Given the description of an element on the screen output the (x, y) to click on. 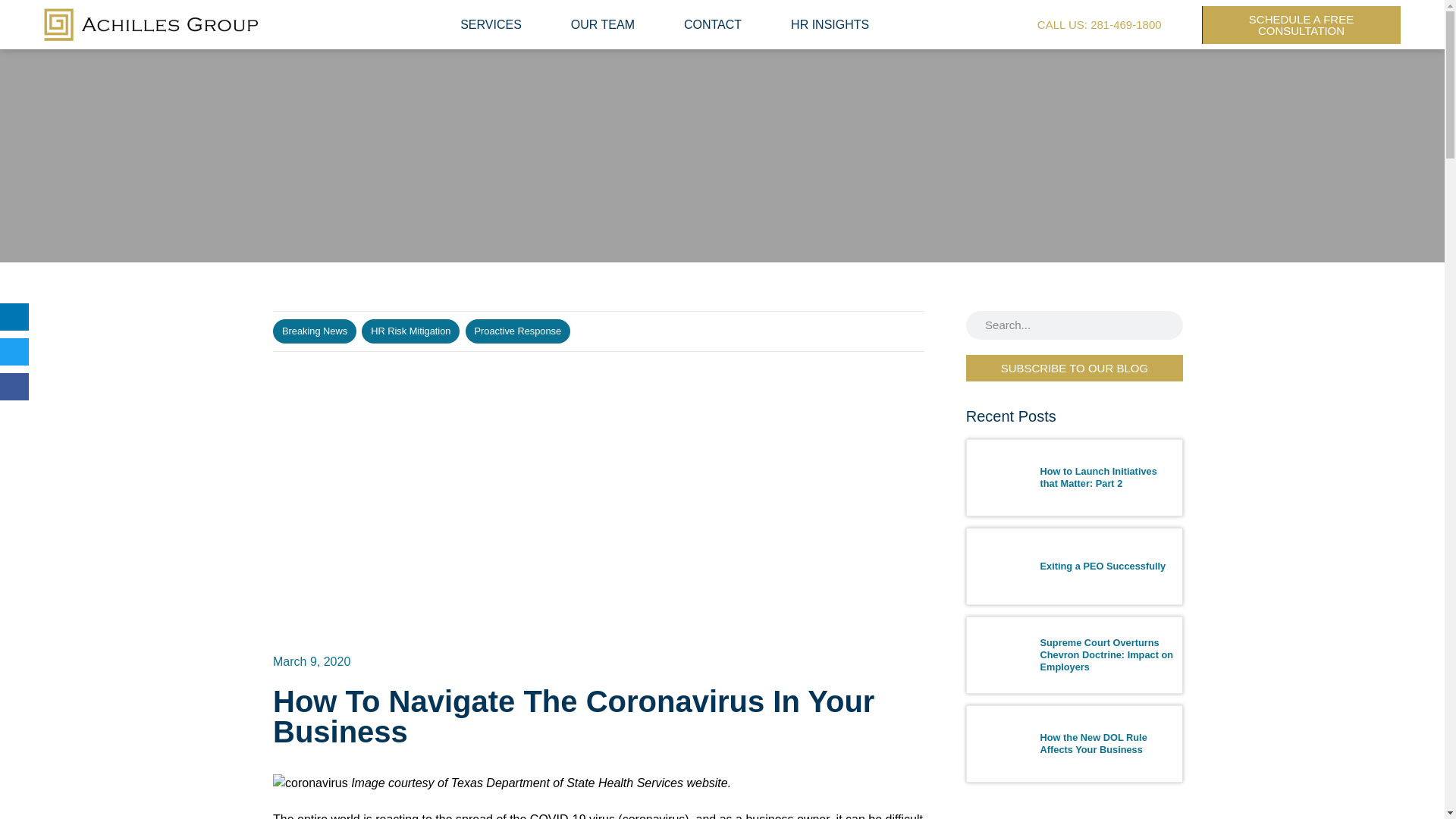
OUR TEAM (602, 24)
SERVICES (491, 24)
CALL US: 281-469-1800 (1099, 24)
CONTACT (712, 24)
HR INSIGHTS (829, 24)
SCHEDULE A FREE CONSULTATION (1301, 24)
